Given the description of an element on the screen output the (x, y) to click on. 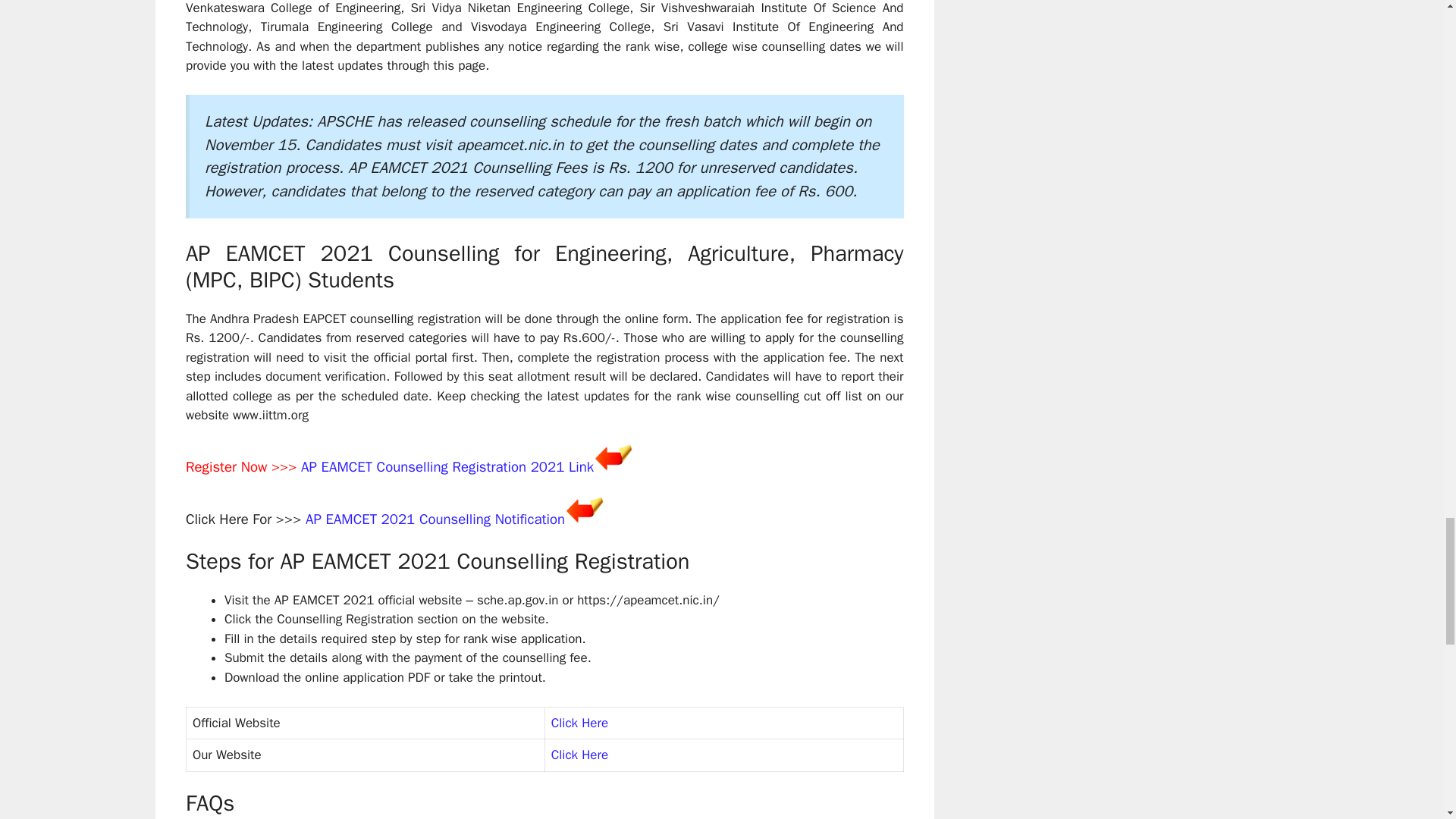
AP EAMCET 2021 Counselling (400, 519)
AP EAMCET Counselling Registration 2021 Link (447, 466)
Click Here (579, 754)
Notification (529, 519)
Click Here (579, 722)
